Given the description of an element on the screen output the (x, y) to click on. 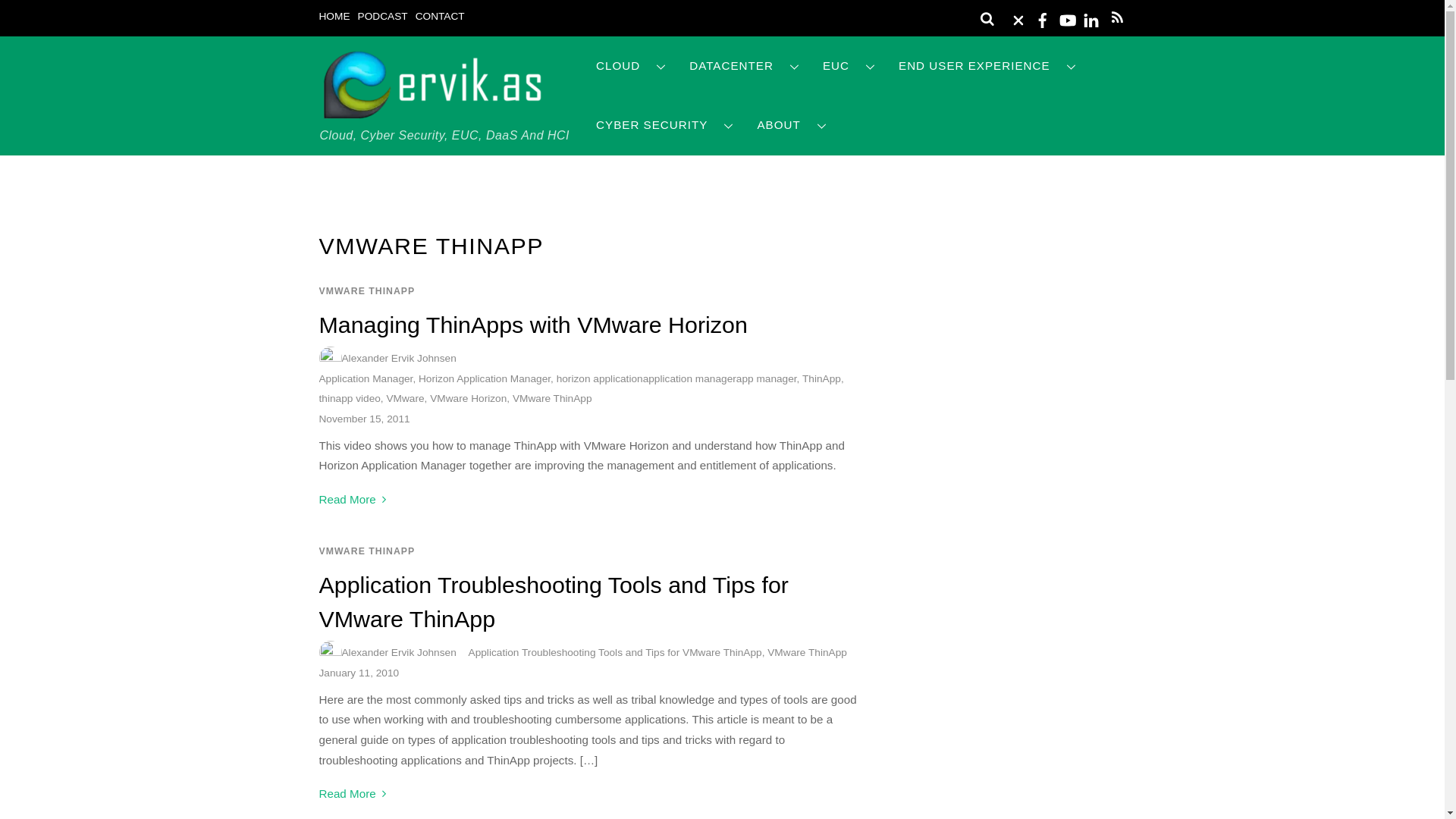
CONTACT (439, 16)
DATACENTER (744, 66)
Ervik.as (432, 114)
CLOUD (631, 66)
PODCAST (382, 16)
HOME (333, 16)
